Given the description of an element on the screen output the (x, y) to click on. 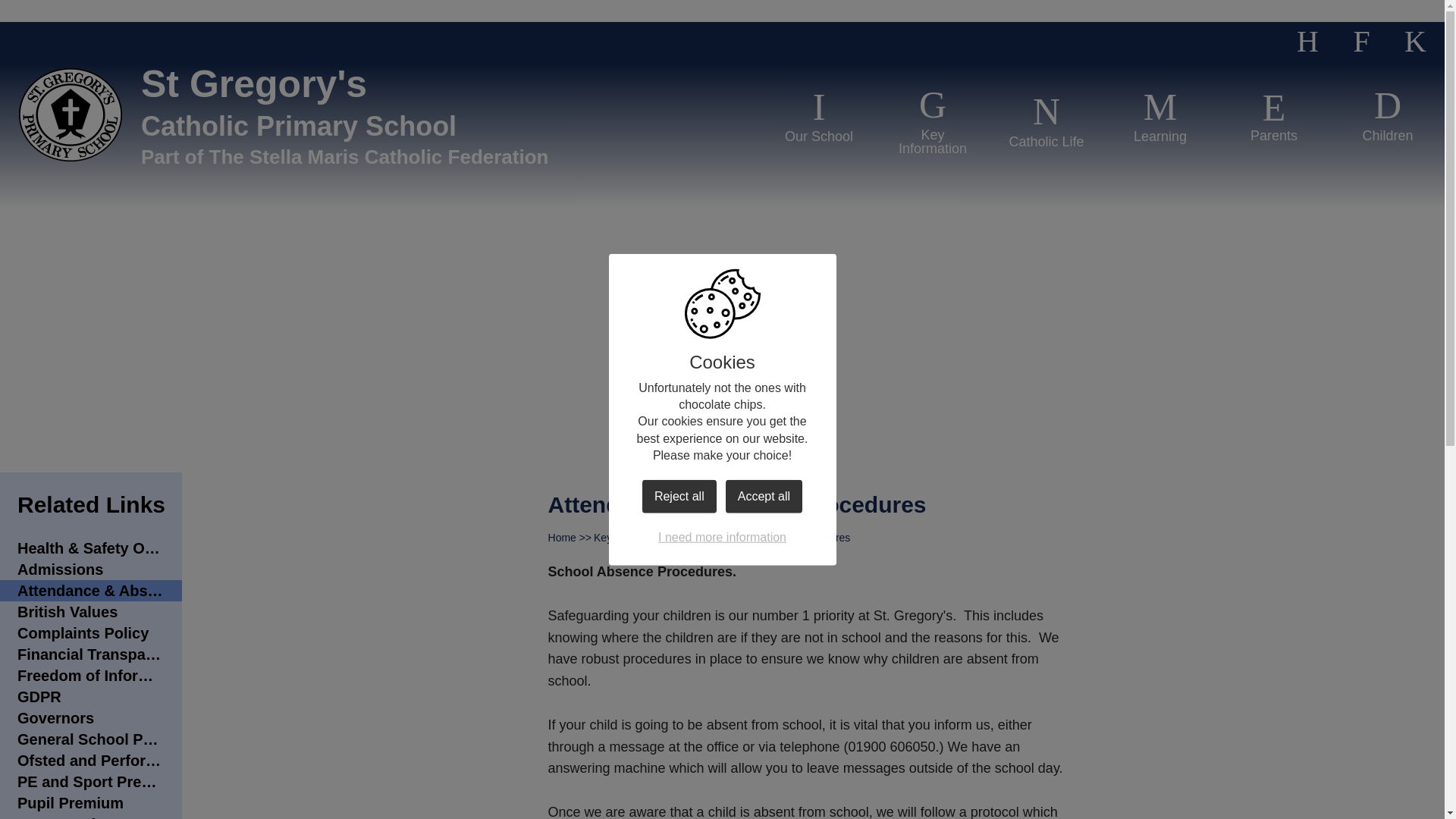
Log in (1414, 41)
Our School (818, 113)
Home Page (70, 114)
Home Page (70, 114)
Key Information (933, 120)
